Given the description of an element on the screen output the (x, y) to click on. 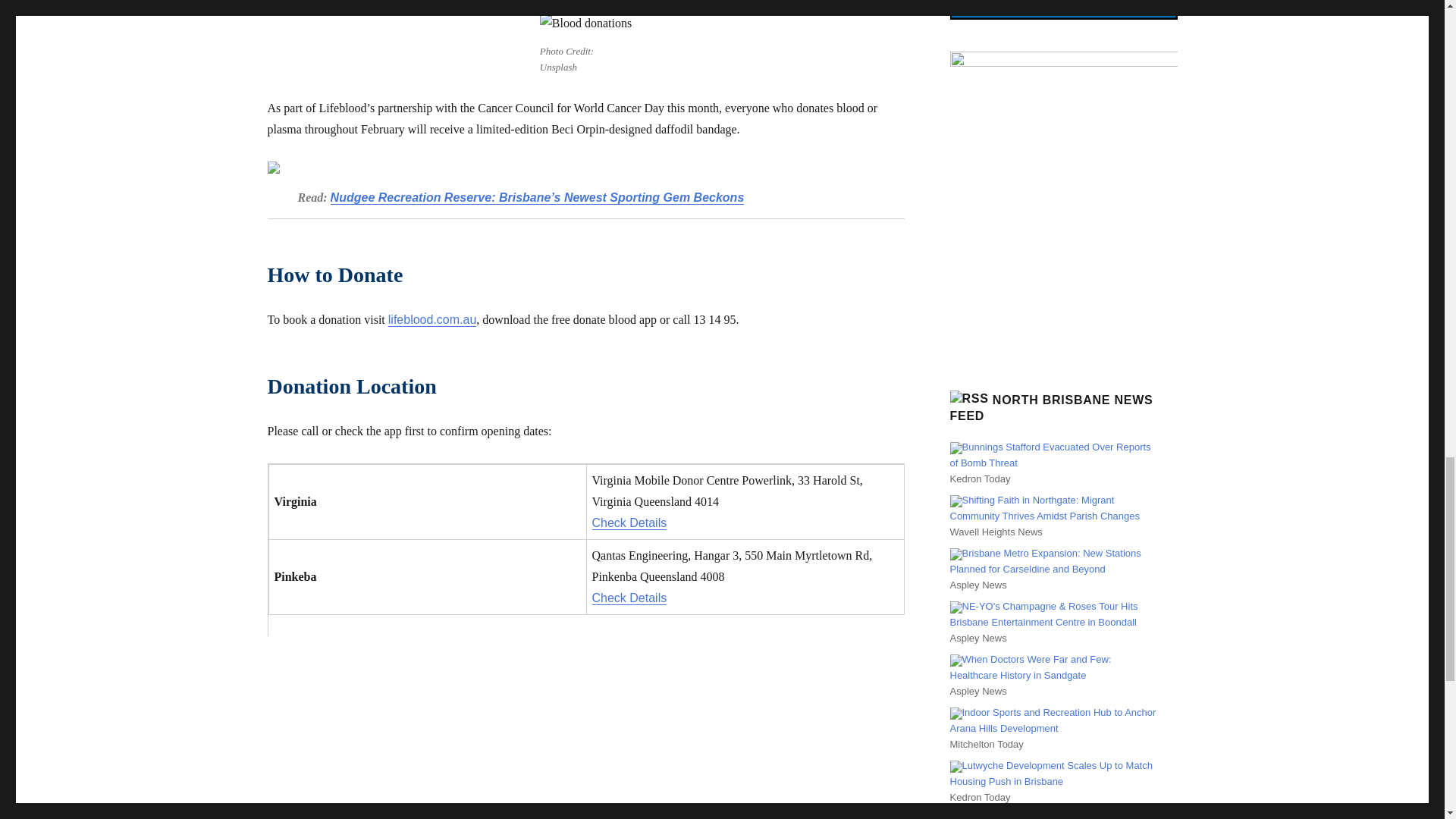
NORTH BRISBANE NEWS FEED (1051, 407)
Check Details (628, 597)
lifeblood.com.au (432, 318)
Check Details (628, 522)
Bunnings Stafford Evacuated Over Reports of Bomb Threat (1049, 454)
